Given the description of an element on the screen output the (x, y) to click on. 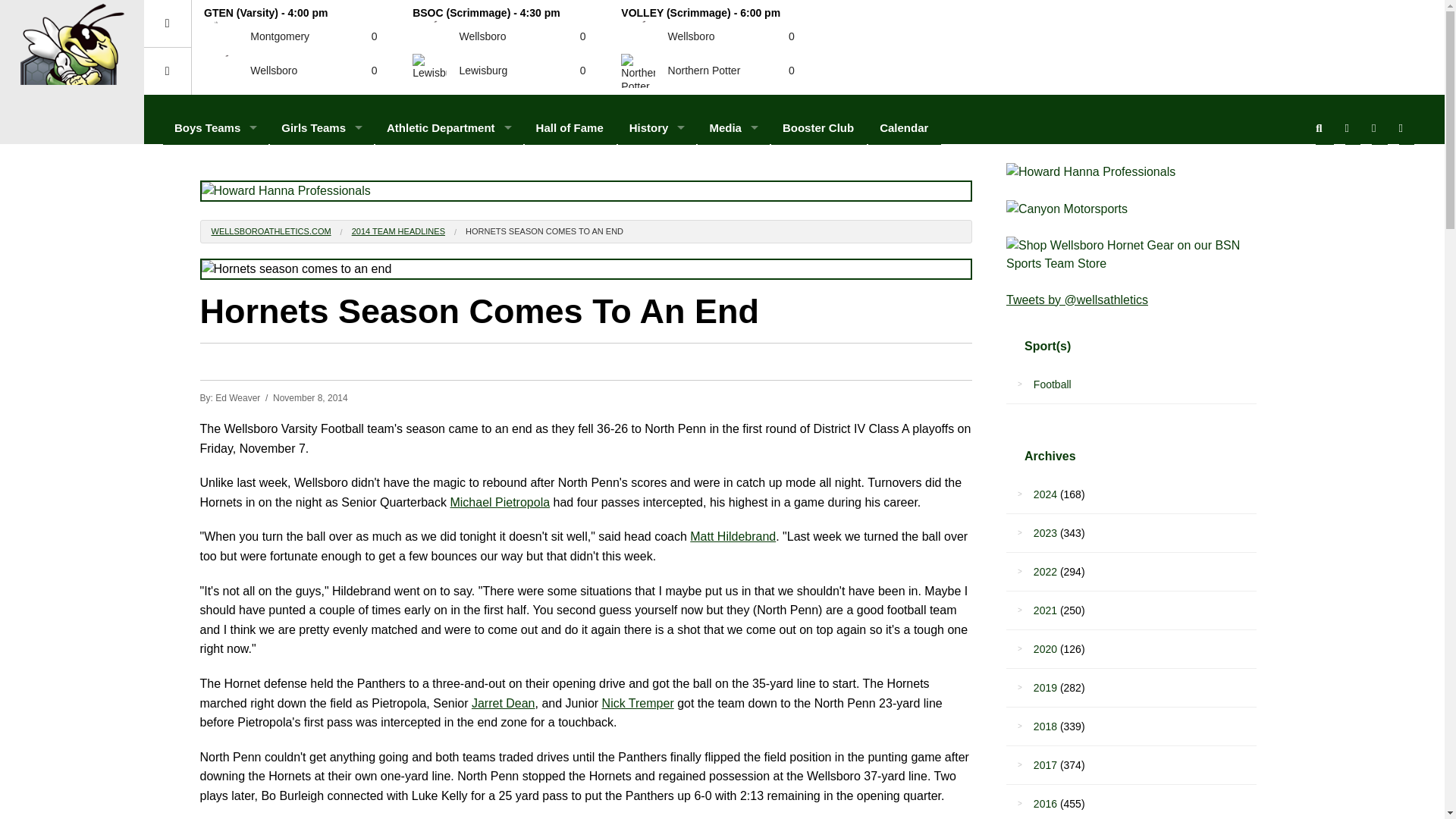
Howard Hanna Professionals (1131, 171)
Wellsboro (220, 69)
Howard Hanna Professionals (586, 190)
Shop Wellsboro Hornet Gear on our BSN Sports Team Store (1131, 254)
Montgomery (220, 36)
Lewisburg (429, 69)
Wellsboro (429, 36)
Hornets season comes to an end (586, 269)
Northern Potter (638, 69)
Wellsboro (638, 36)
